Given the description of an element on the screen output the (x, y) to click on. 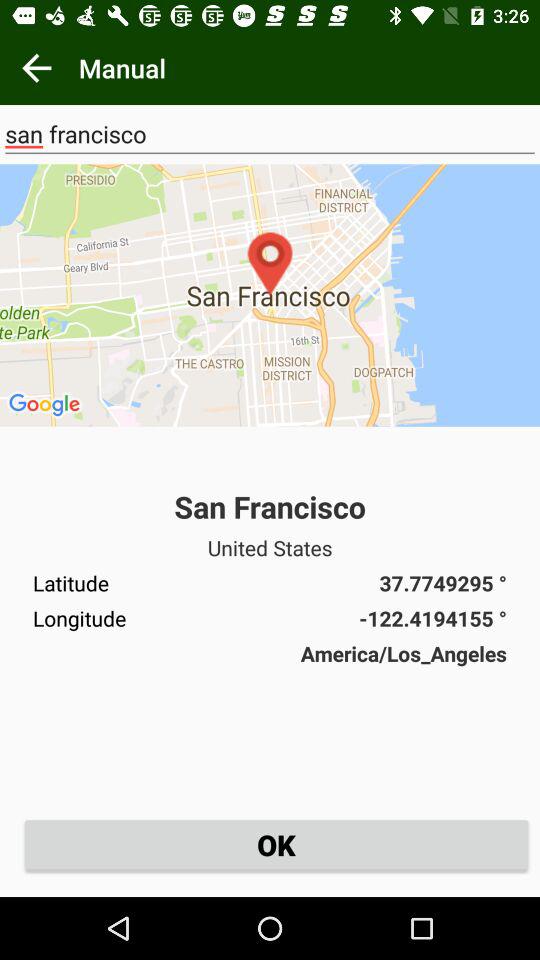
tap item below the america/los_angeles item (276, 844)
